Given the description of an element on the screen output the (x, y) to click on. 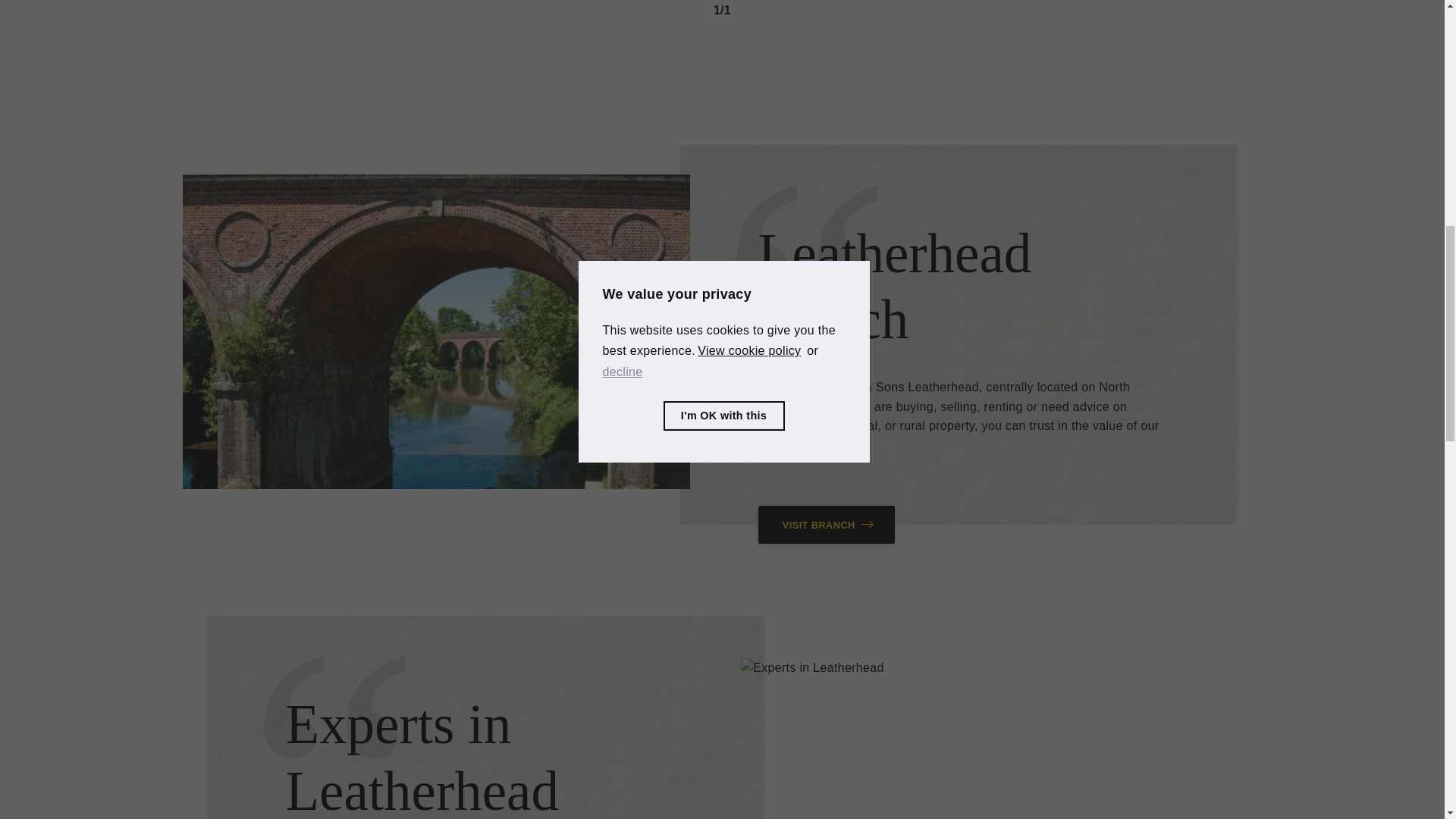
VISIT BRANCH (826, 524)
